Given the description of an element on the screen output the (x, y) to click on. 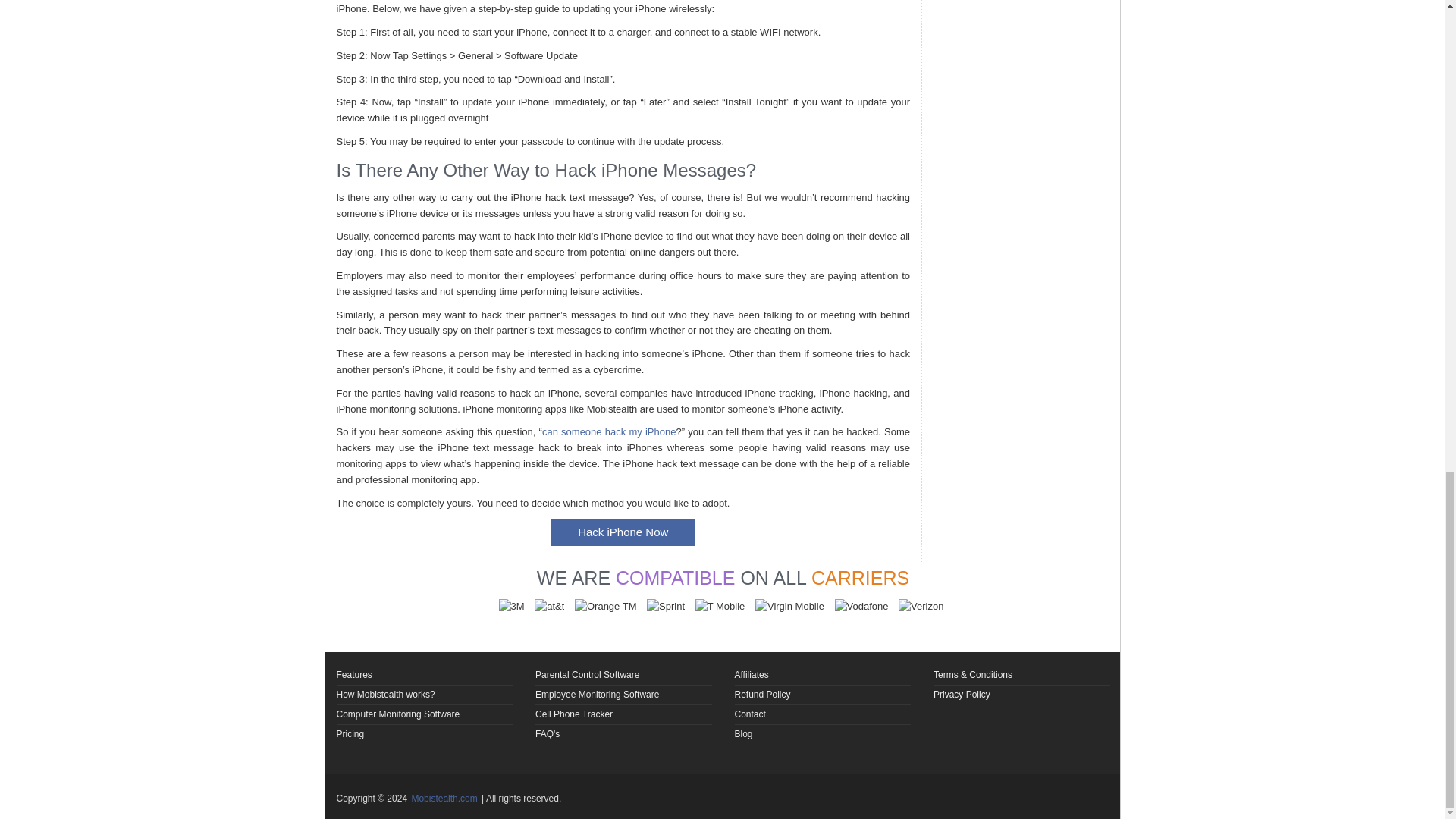
can someone hack my iPhone (609, 431)
How Mobistealth works? (385, 694)
Hack iPhone Now (622, 532)
Features (354, 674)
